Given the description of an element on the screen output the (x, y) to click on. 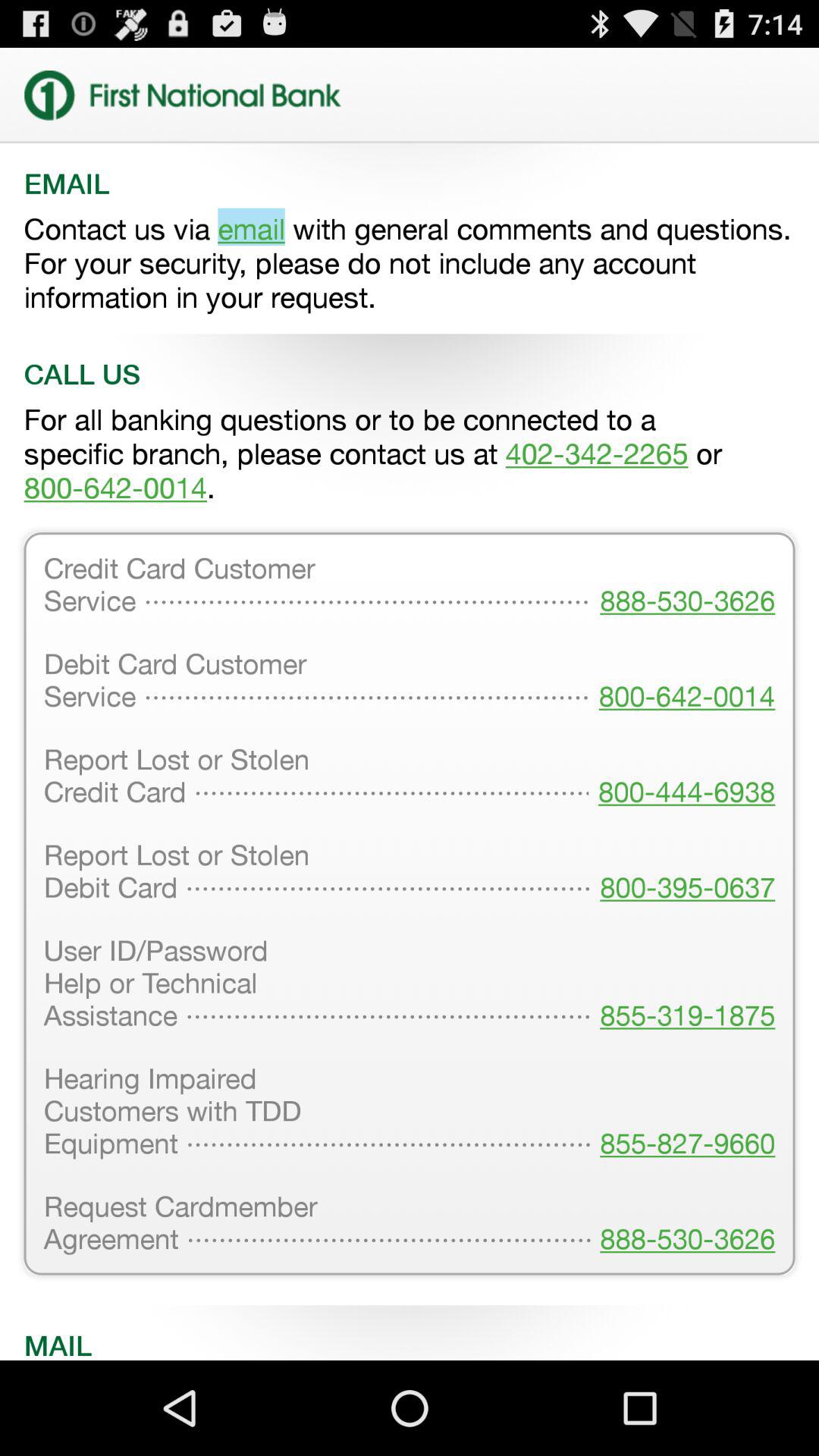
go to the number 8558279660 (682, 1112)
